Given the description of an element on the screen output the (x, y) to click on. 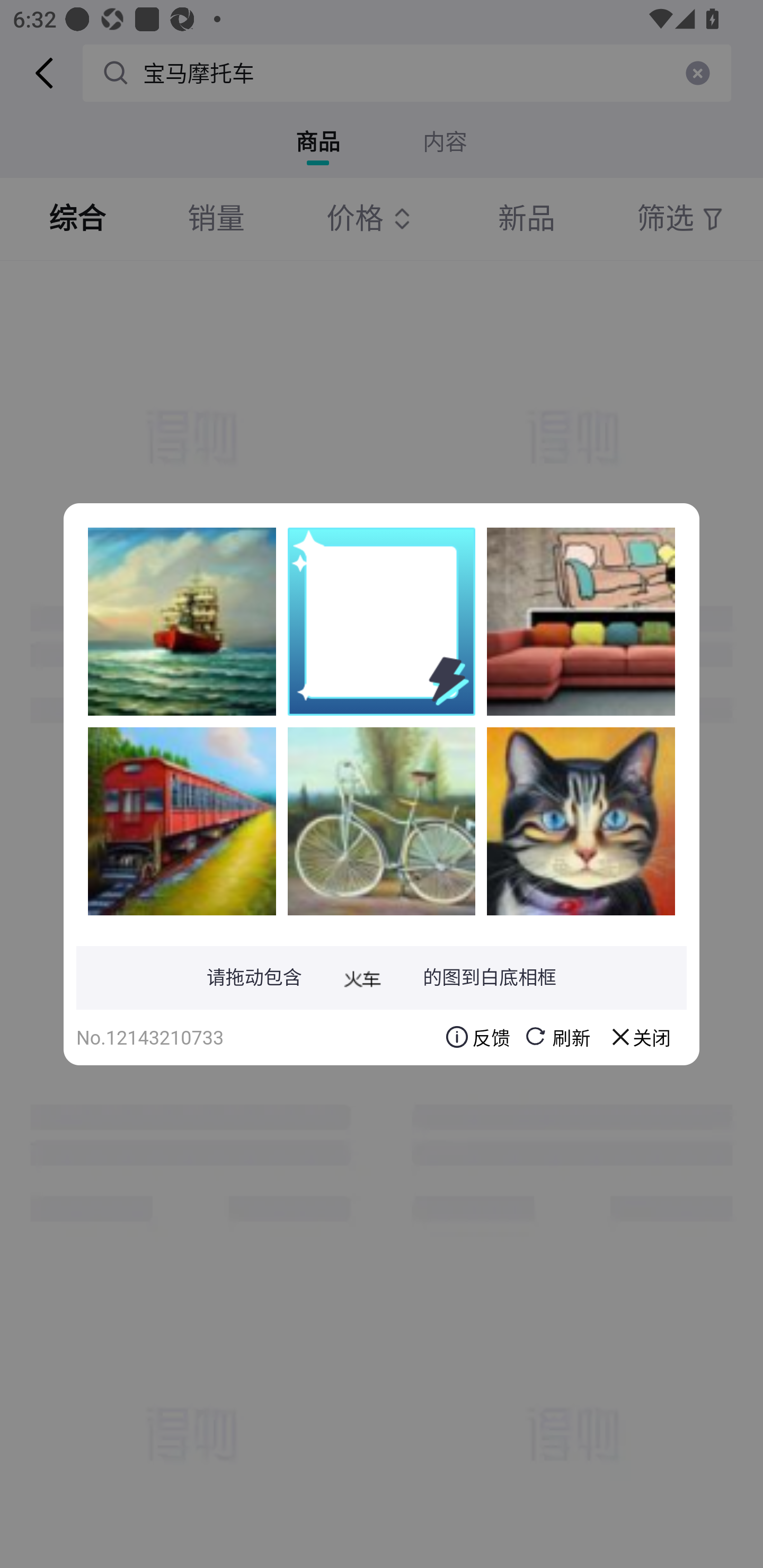
IUYsEMS1WTsdaCE0S3gS37vj5mkLQ5yfNREqS3 (181, 621)
QOPwT0wgKCiNe5DrWzAwPIwNiIoIpL5hKanAkXrK6Bf (181, 820)
gZAqJsCF (381, 820)
